Given the description of an element on the screen output the (x, y) to click on. 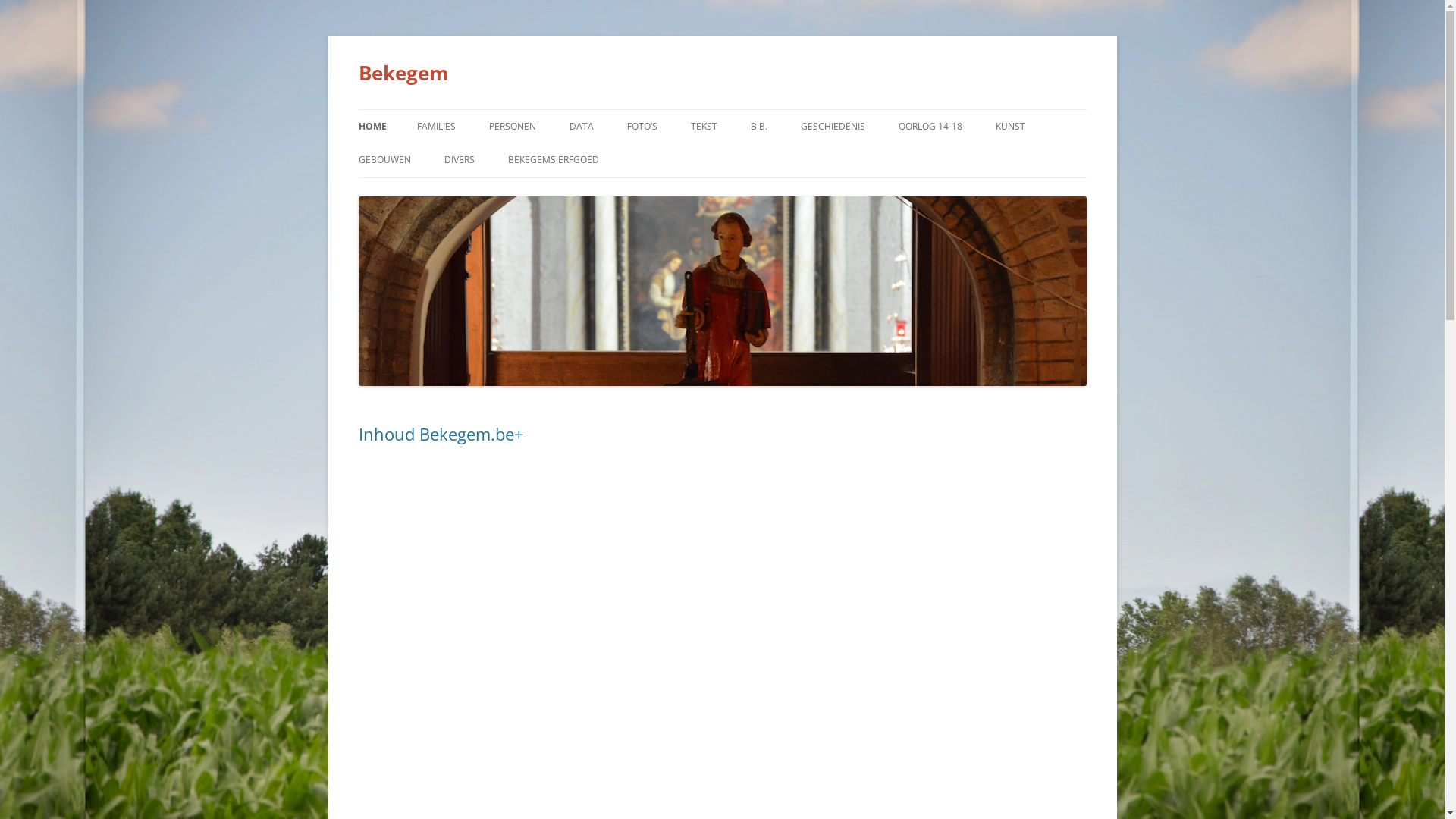
PERSONEN Element type: text (511, 126)
Spring naar inhoud Element type: text (721, 109)
DIVERS Element type: text (459, 159)
RENNERS Element type: text (702, 158)
B.B. Element type: text (758, 126)
BURGEMEESTERS Element type: text (564, 158)
BEKEGEMS ERFGOED Element type: text (553, 159)
KAARTEN Element type: text (644, 158)
STRATENPATROON Element type: text (520, 192)
OORLOG 14-18 Element type: text (929, 126)
SANDERS ANNA TH Element type: text (826, 158)
FAMILIES Element type: text (436, 126)
KUNST Element type: text (1009, 126)
DIVERSEN Element type: text (765, 158)
GESCHIEDENIS VAN BEKEGEM TOT 1234 Element type: text (876, 167)
DECOSTER CHARLES Element type: text (1070, 158)
TEKST Element type: text (703, 126)
DOELSTELLING Element type: text (583, 192)
KERK Element type: text (433, 192)
GESCHIEDENIS Element type: text (832, 126)
OUDSTRIJDERS Element type: text (973, 158)
DATA Element type: text (580, 126)
GEBOUWEN Element type: text (383, 159)
Inhoud Bekegem.be+ Element type: text (440, 433)
HOME Element type: text (371, 126)
FAMILIES A TOT K Element type: text (492, 158)
Bekegem Element type: text (402, 72)
